Given the description of an element on the screen output the (x, y) to click on. 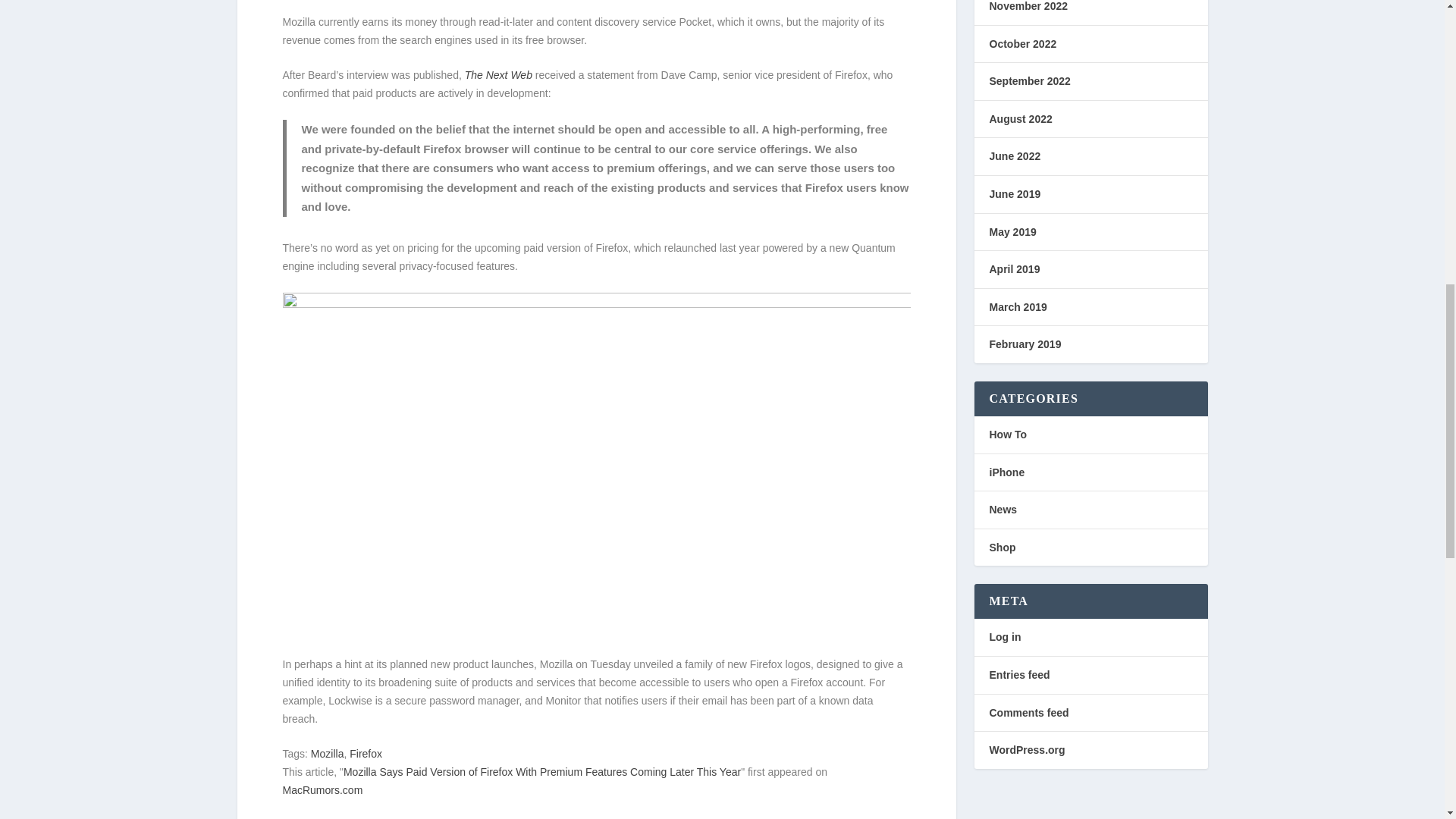
MacRumors.com (322, 789)
The Next Web (498, 74)
Firefox (365, 753)
Mozilla (327, 753)
